Given the description of an element on the screen output the (x, y) to click on. 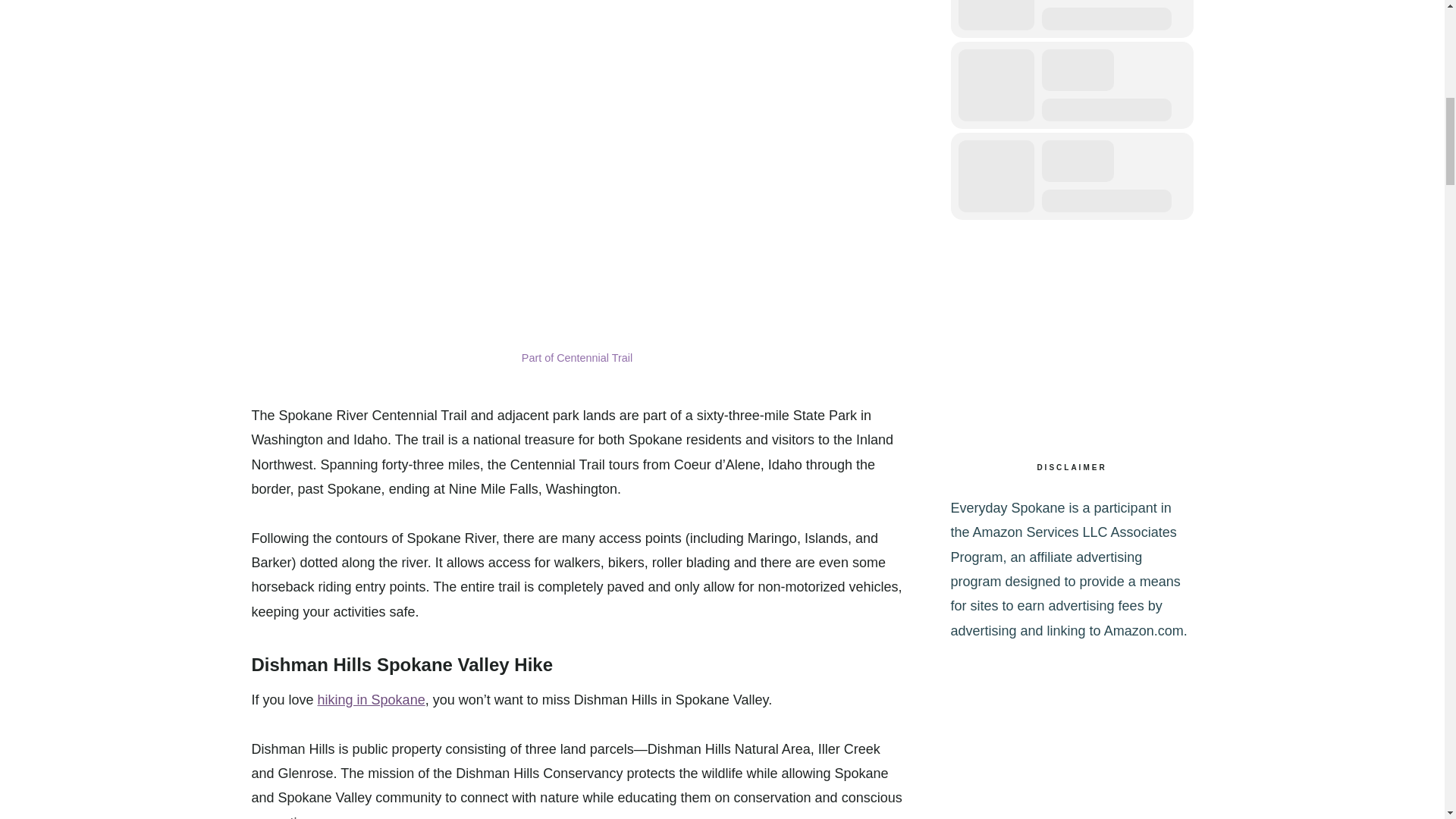
hiking in Spokane (371, 699)
Dishman Hills (311, 664)
